Given the description of an element on the screen output the (x, y) to click on. 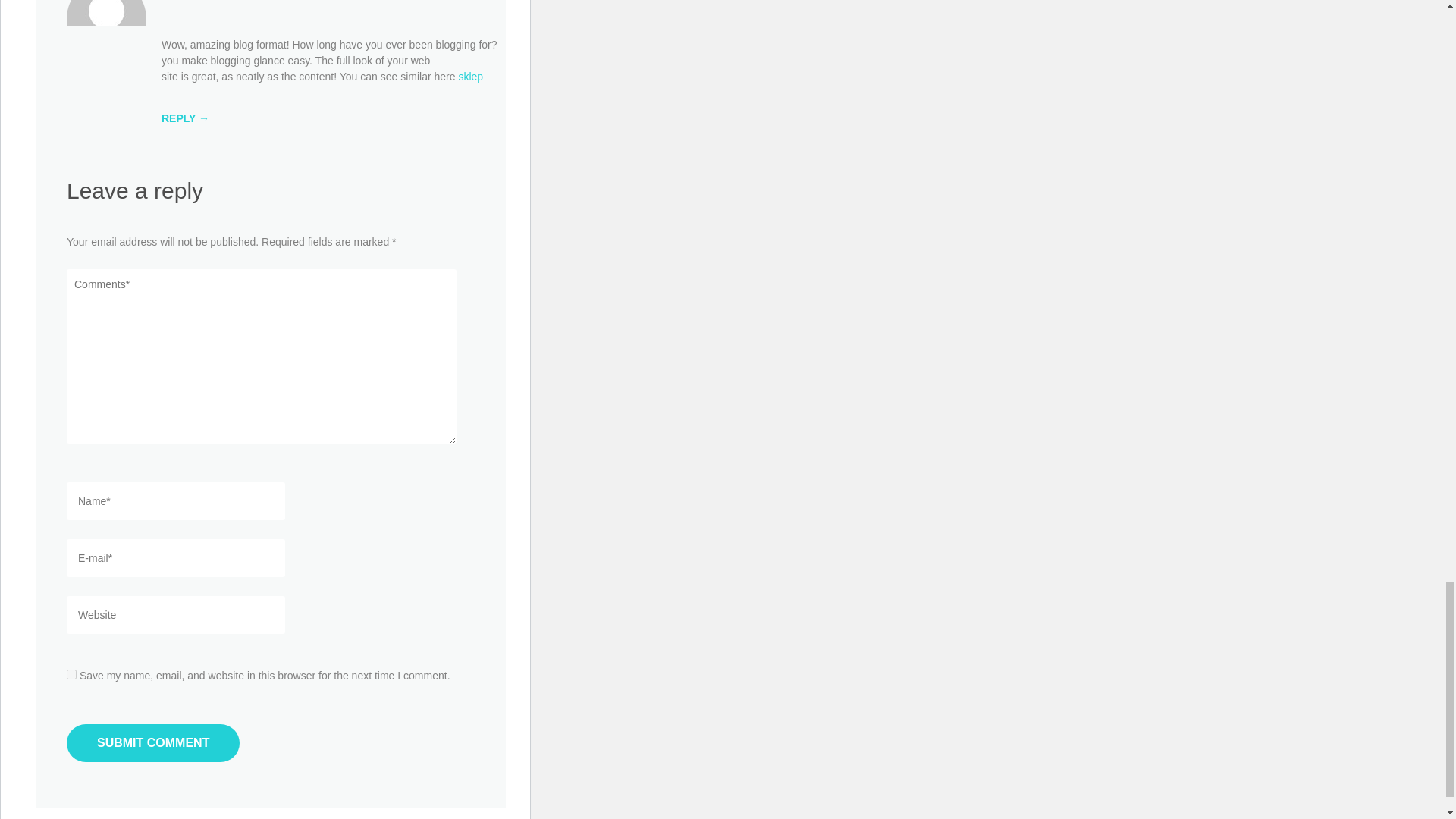
Submit Comment (153, 742)
yes (71, 674)
sklep (470, 76)
